Given the description of an element on the screen output the (x, y) to click on. 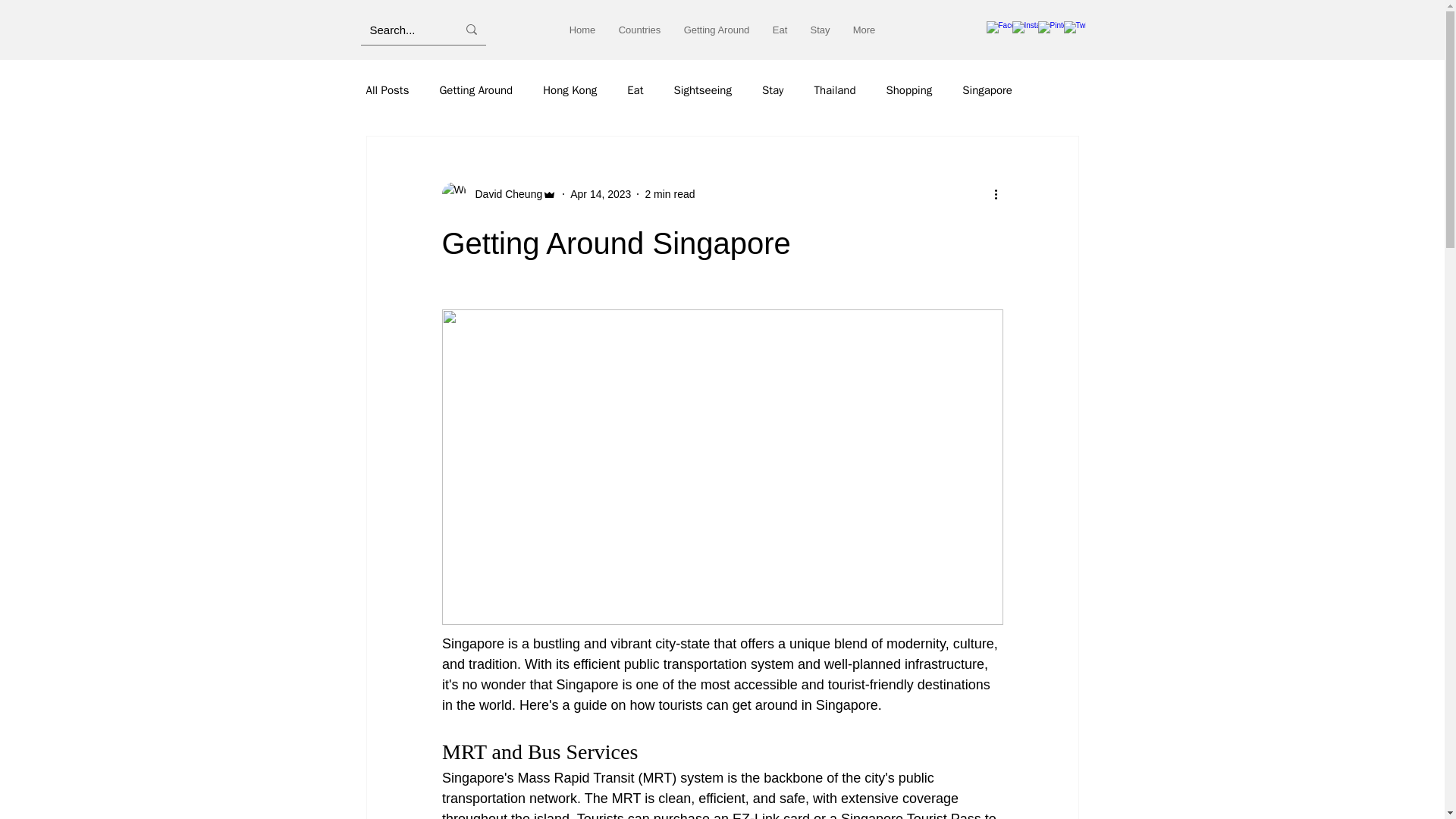
David Cheung (503, 194)
Home (582, 29)
Thailand (834, 90)
Stay (772, 90)
Getting Around (715, 29)
Eat (635, 90)
Countries (639, 29)
2 min read (669, 193)
Sightseeing (701, 90)
Hong Kong (569, 90)
Eat (780, 29)
Shopping (908, 90)
Singapore (986, 90)
Getting Around (475, 90)
All Posts (387, 90)
